Given the description of an element on the screen output the (x, y) to click on. 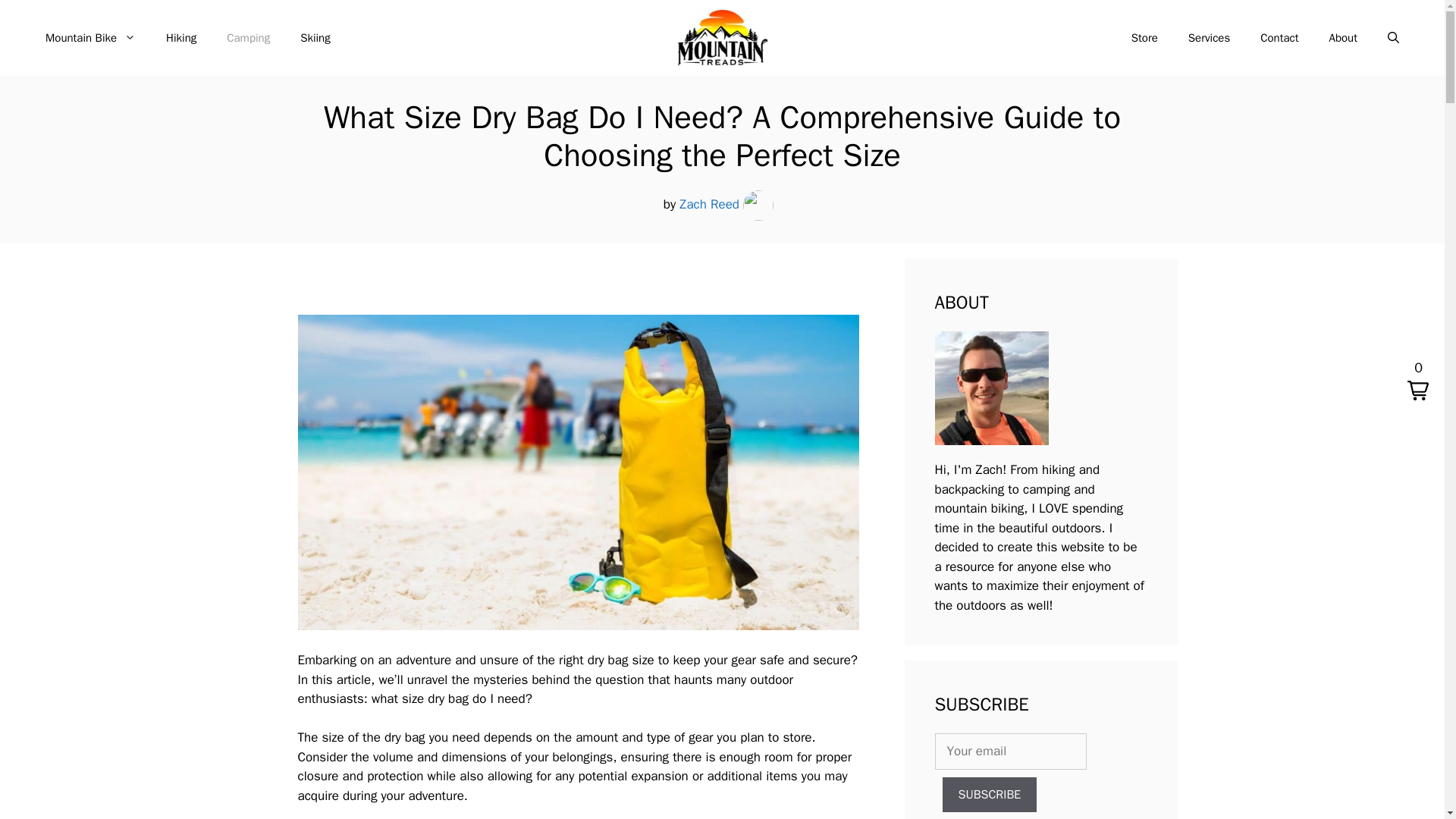
Store (1144, 37)
View all posts by Zach Reed (709, 204)
Camping (248, 37)
Skiing (315, 37)
Zach Reed (709, 204)
Hiking (181, 37)
Mountain Bike (90, 37)
Menu Item Separator (731, 37)
Services (1208, 37)
Contact (1278, 37)
About (1343, 37)
